Given the description of an element on the screen output the (x, y) to click on. 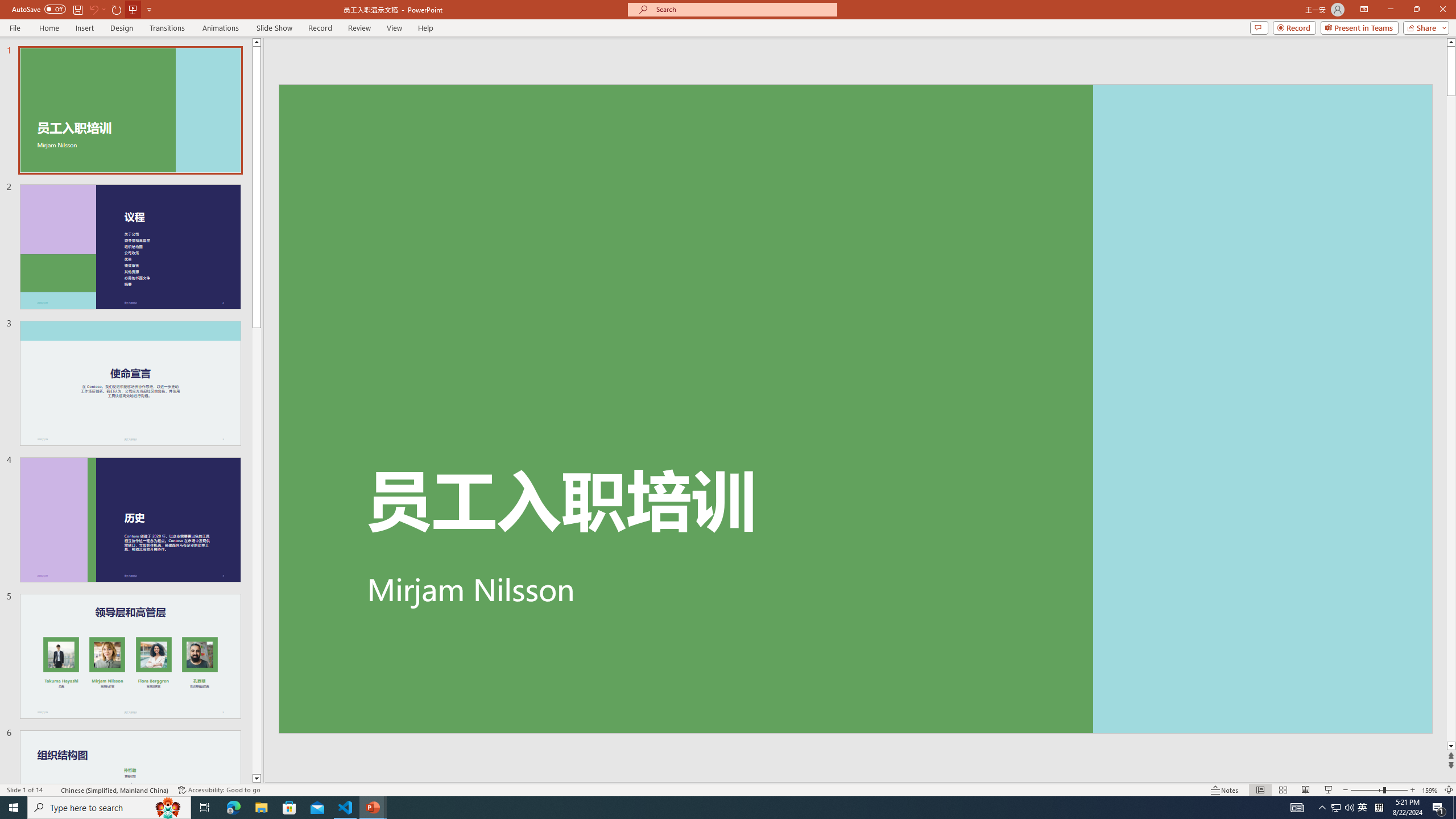
Spell Check  (52, 790)
Zoom 159% (1430, 790)
